Given the description of an element on the screen output the (x, y) to click on. 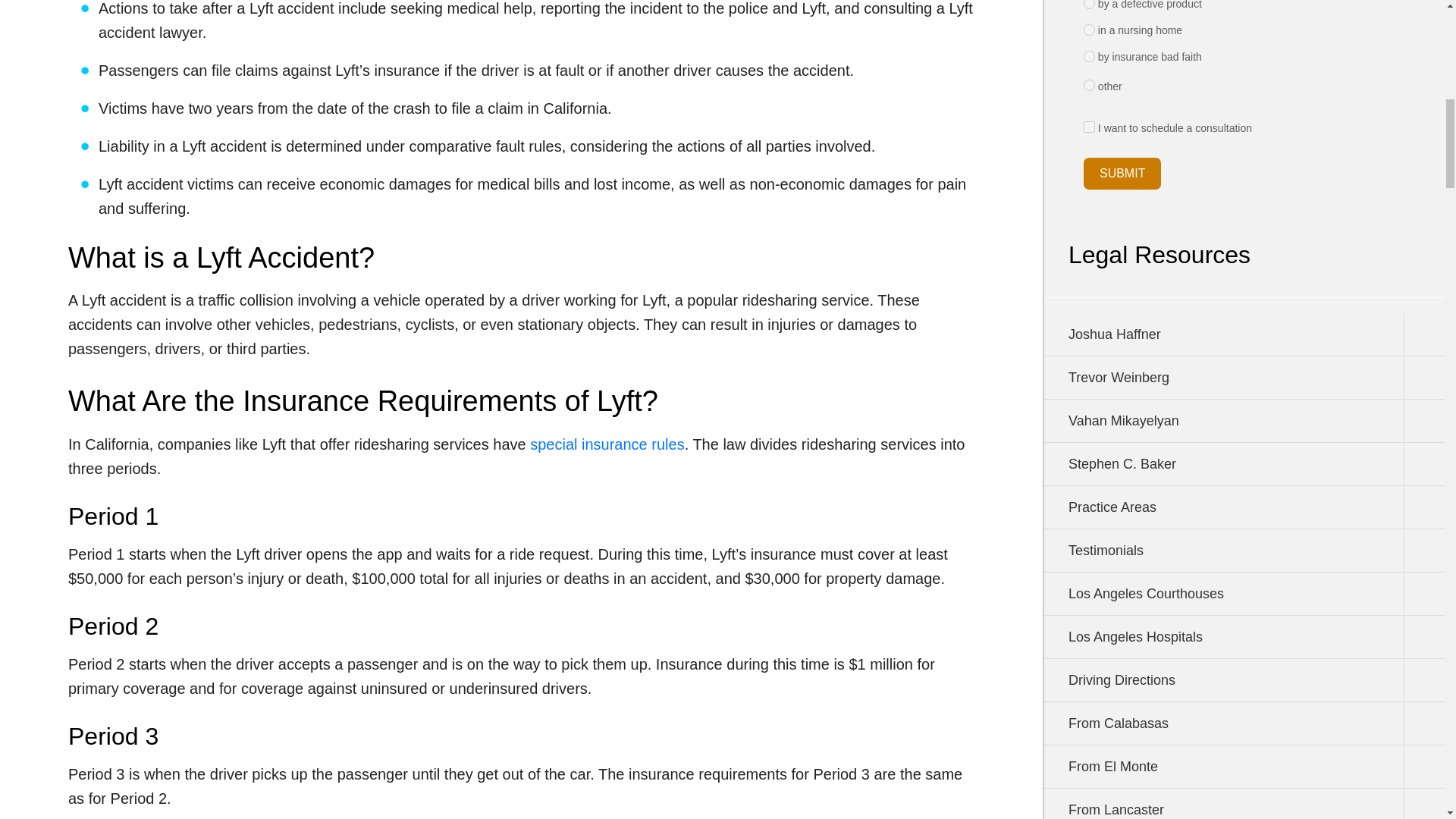
in a nursing home (1088, 30)
by insurance bad faith (1088, 56)
other (1088, 84)
 I want to schedule a consultation (1088, 126)
by a defective product (1088, 4)
